Given the description of an element on the screen output the (x, y) to click on. 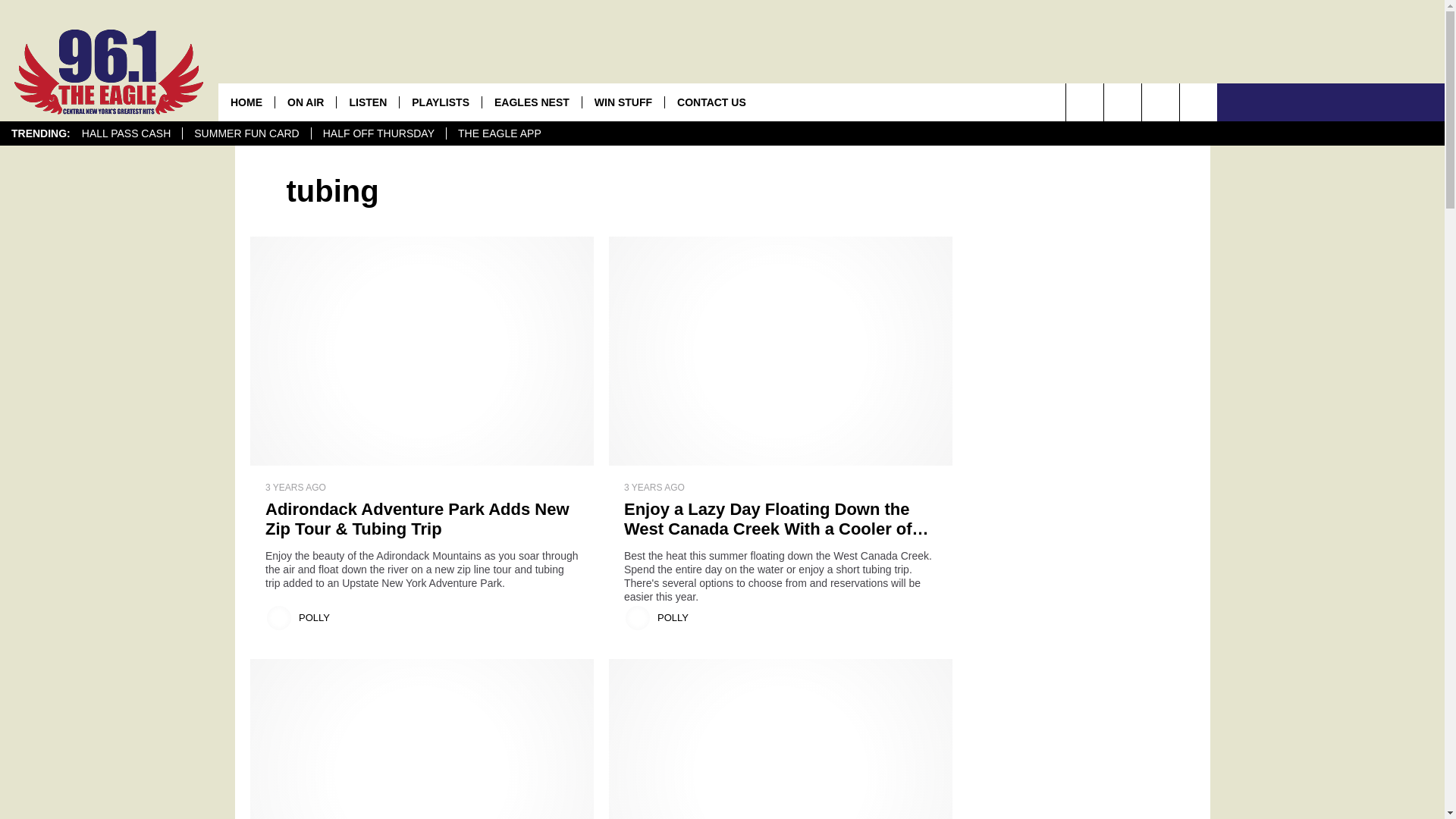
THE EAGLE APP (499, 133)
HALL PASS CASH (126, 133)
CONTACT US (710, 102)
HOME (246, 102)
WIN STUFF (621, 102)
EAGLES NEST (530, 102)
SUMMER FUN CARD (246, 133)
HALF OFF THURSDAY (378, 133)
ON AIR (305, 102)
LISTEN (367, 102)
